Given the description of an element on the screen output the (x, y) to click on. 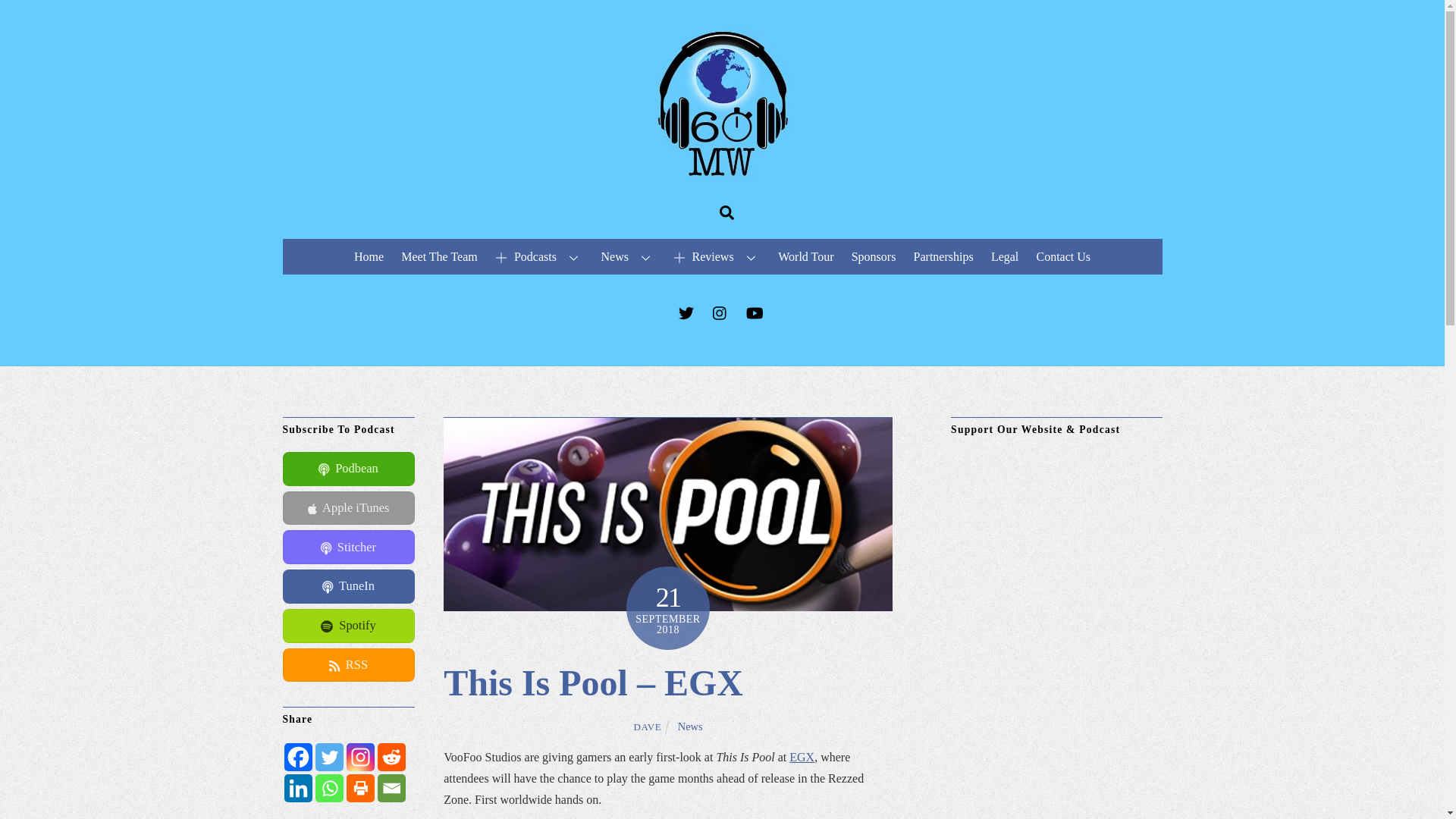
Podcasts (539, 256)
Facebook (297, 756)
World Tour (806, 256)
HeaderThisIsPoolNews (668, 513)
DAVE (647, 726)
Reviews (716, 256)
News (690, 726)
Partnerships (942, 256)
Meet The Team (439, 256)
Sponsors (873, 256)
Home (368, 256)
Twitter (329, 756)
60 Minutes With (722, 173)
EGX (801, 757)
